Given the description of an element on the screen output the (x, y) to click on. 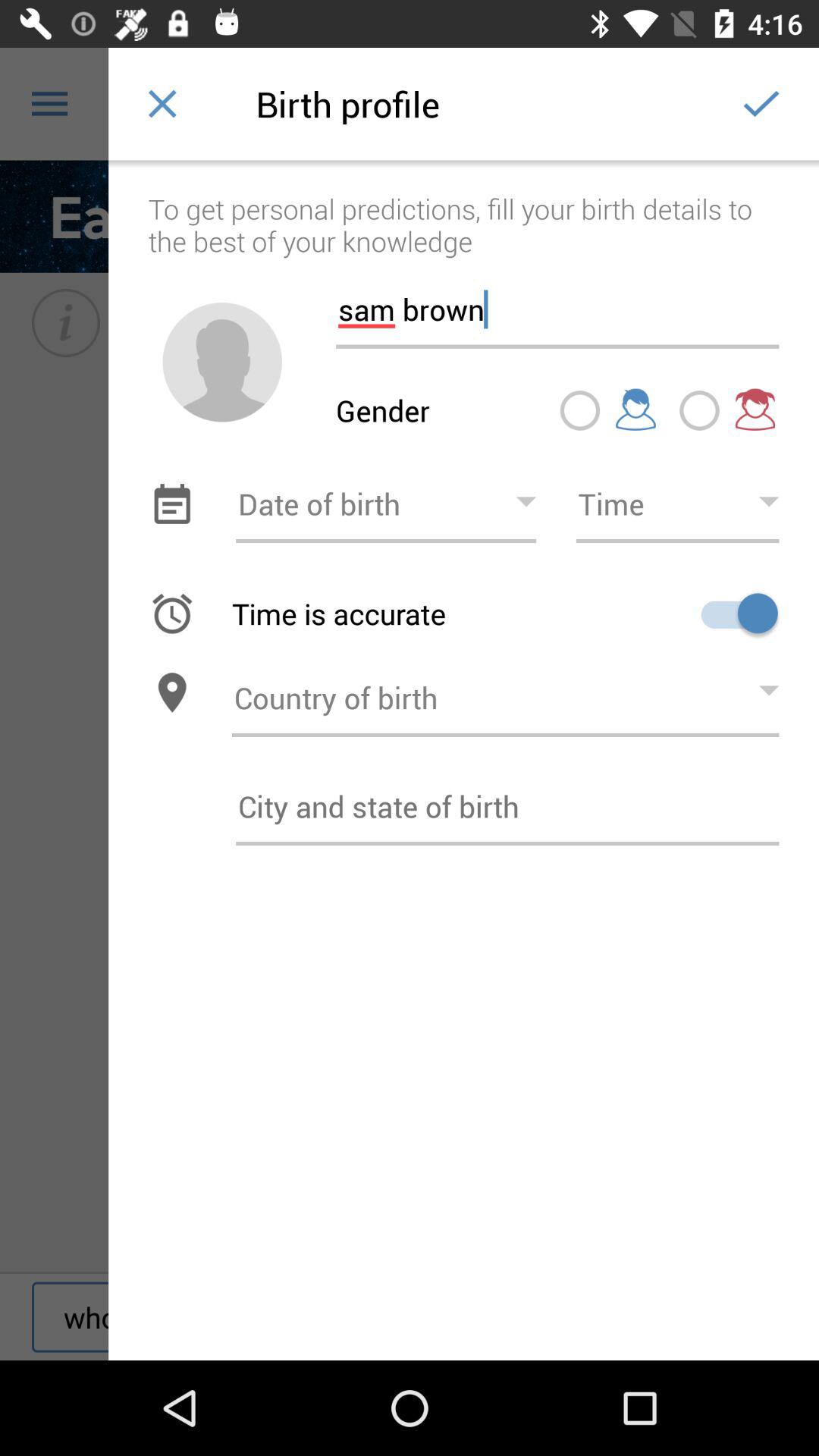
enter time of birth (677, 503)
